Given the description of an element on the screen output the (x, y) to click on. 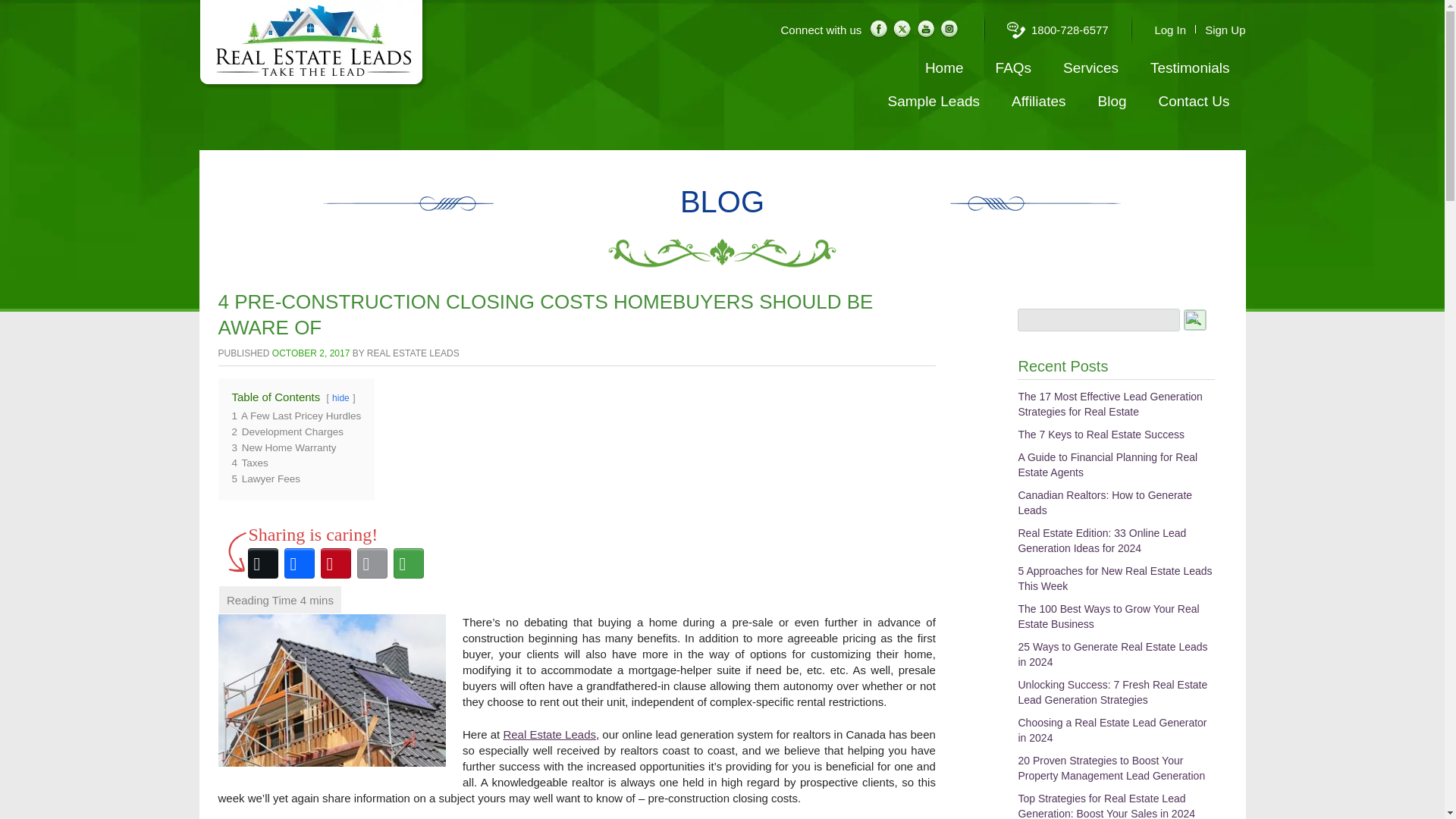
FAQs (1013, 68)
OCTOBER 2, 2017 (311, 353)
Blog (1111, 101)
Real Estate Leads (548, 734)
hide (340, 398)
4 Taxes (249, 462)
3 New Home Warranty (283, 447)
Contact Us (1193, 101)
More Options (408, 563)
Pinterest (335, 563)
1 A Few Last Pricey Hurdles (296, 415)
Email This (371, 563)
Sign Up (1224, 29)
Log In (1170, 29)
Sample Leads (933, 101)
